Given the description of an element on the screen output the (x, y) to click on. 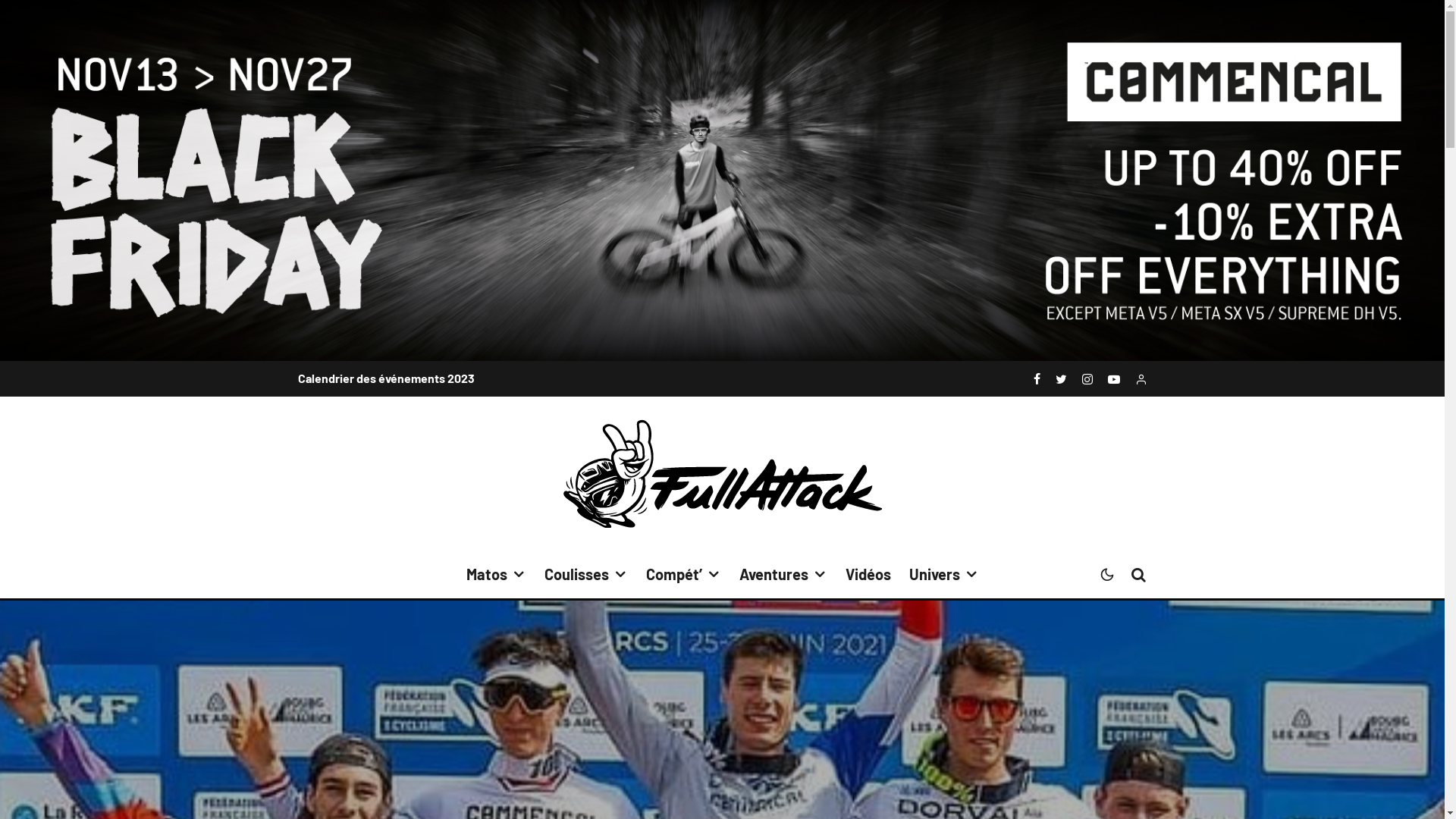
Matos Element type: text (495, 574)
Aventures Element type: text (782, 574)
Coulisses Element type: text (586, 574)
Retour en haut Element type: text (721, 684)
Univers Element type: text (943, 574)
